Given the description of an element on the screen output the (x, y) to click on. 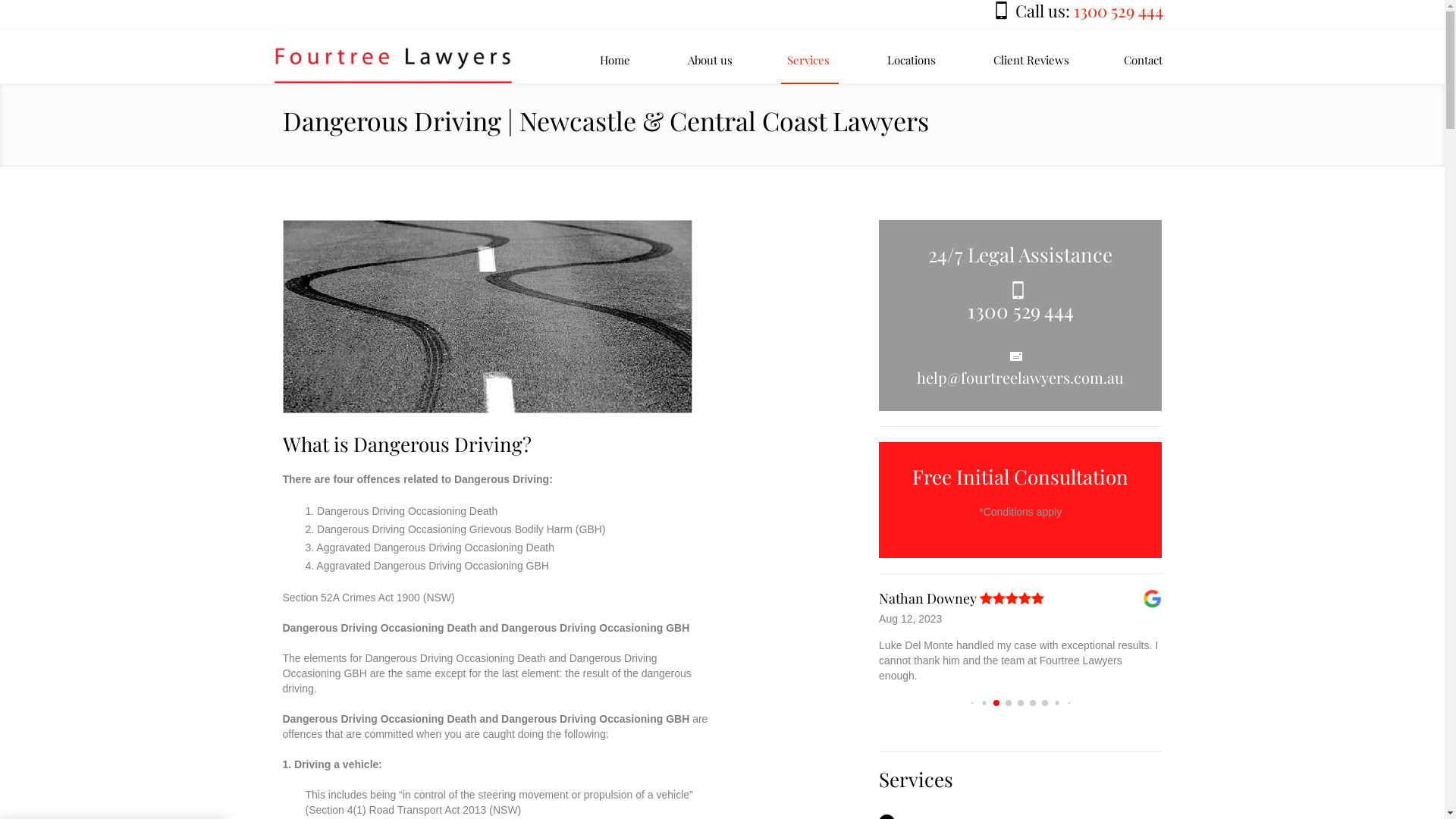
24/7 Legal Assistance Element type: text (1020, 254)
Free Initial Consultation Element type: text (1020, 476)
Locations Element type: text (911, 59)
Dangerous driving skid marks on road Element type: hover (486, 316)
Services Element type: text (808, 59)
About us Element type: text (709, 59)
1300 529 444 Element type: text (1020, 310)
Client Reviews Element type: text (1031, 59)
Home Element type: text (614, 59)
help@fourtreelawyers.com.au Element type: text (1019, 377)
*Conditions apply Element type: text (1020, 511)
Fourtree Lawyers Element type: hover (395, 56)
Contact Element type: text (1142, 59)
